Given the description of an element on the screen output the (x, y) to click on. 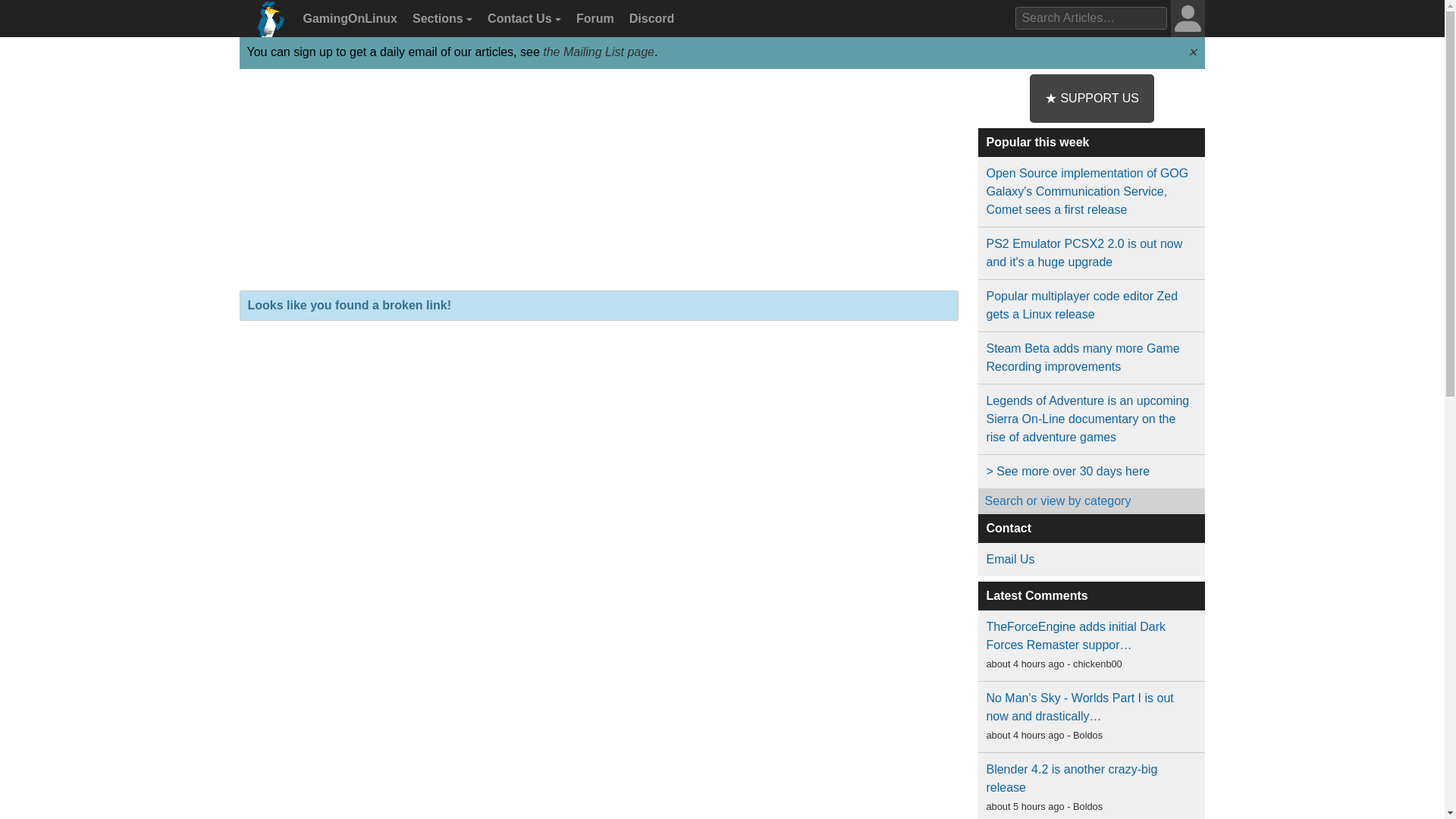
Sections (440, 19)
Forum (593, 19)
GamingOnLinux Home (267, 23)
the Mailing List page (598, 51)
Contact Us (522, 19)
Discord (649, 19)
GamingOnLinux (348, 19)
Hide Announcement (1192, 51)
